Given the description of an element on the screen output the (x, y) to click on. 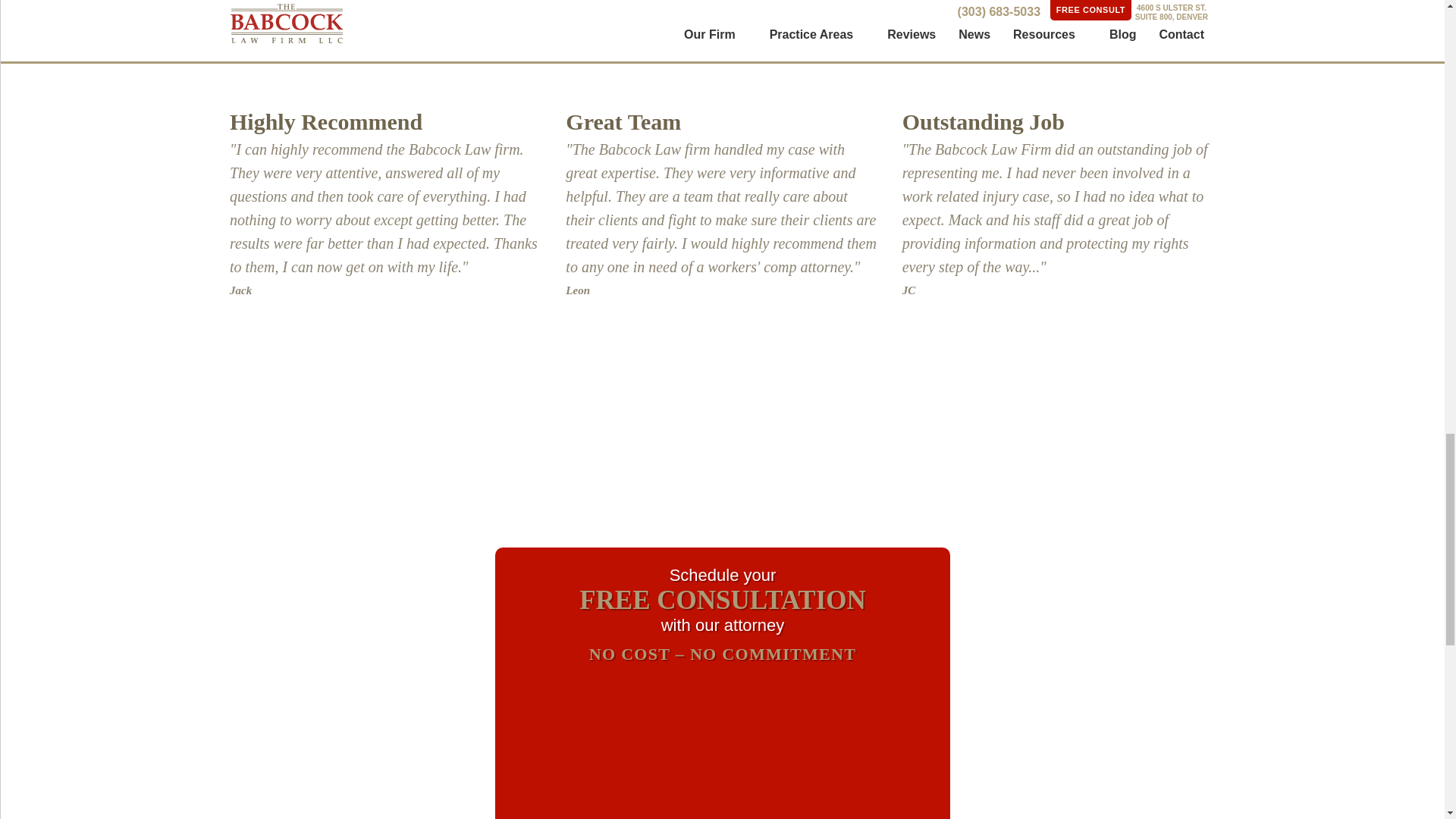
5280 (1152, 447)
WILG (1029, 449)
SEOLegal (520, 446)
Enjuris Profile (1187, 388)
SuperLawyers (486, 388)
